Given the description of an element on the screen output the (x, y) to click on. 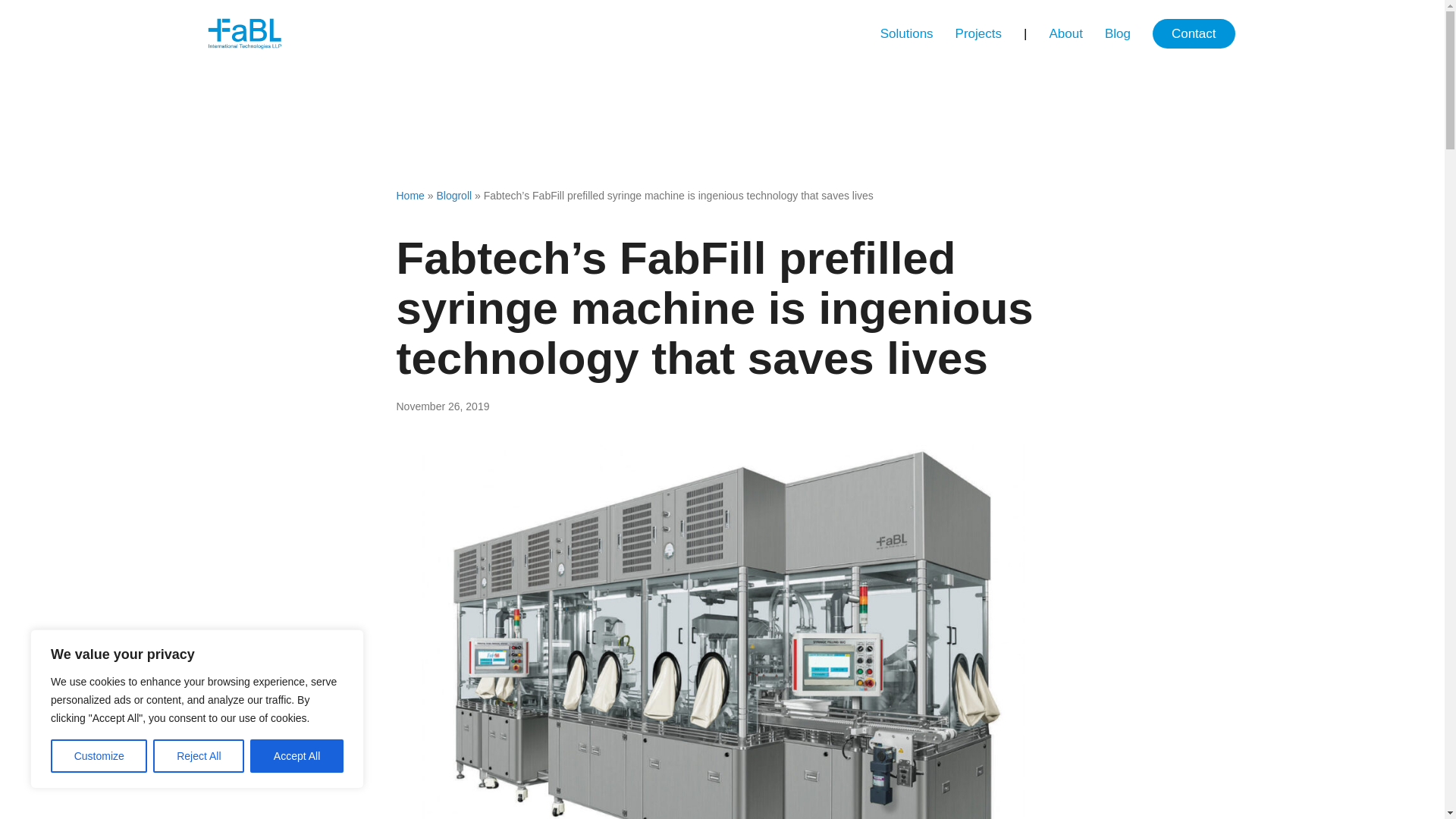
Customize (98, 756)
Reject All (198, 756)
Projects (977, 33)
Solutions (906, 33)
Accept All (296, 756)
fabl (244, 33)
